Given the description of an element on the screen output the (x, y) to click on. 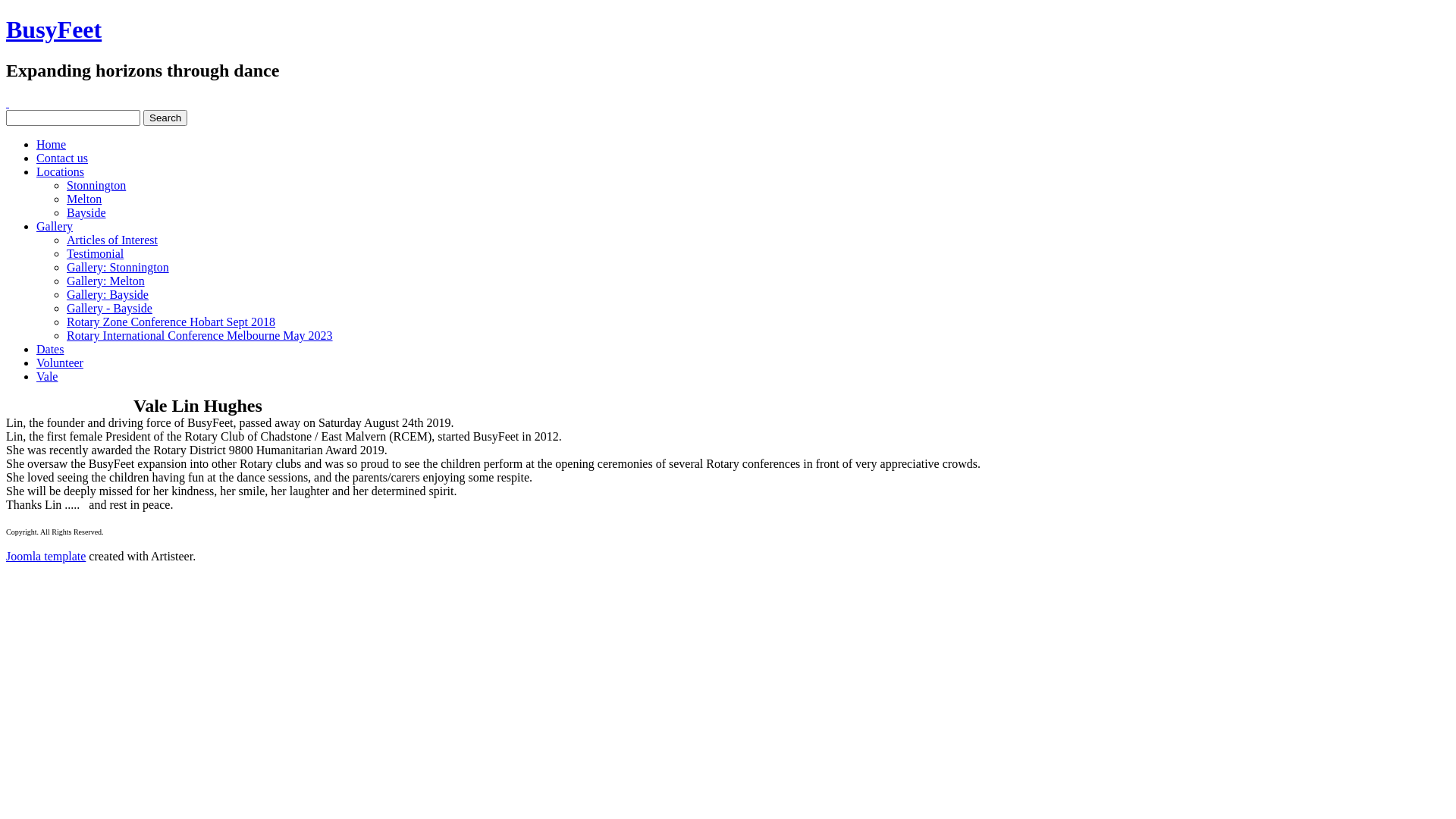
Volunteer Element type: text (59, 362)
Locations Element type: text (60, 171)
Gallery - Bayside Element type: text (109, 307)
Vale Element type: text (46, 376)
Gallery Element type: text (54, 225)
Stonnington Element type: text (95, 184)
Melton Element type: text (83, 198)
Facebook Element type: hover (7, 102)
Home Element type: text (50, 144)
Gallery: Stonnington Element type: text (117, 266)
Articles of Interest Element type: text (111, 239)
Search Element type: text (165, 117)
Joomla template Element type: text (45, 555)
Dates Element type: text (49, 348)
Bayside Element type: text (86, 212)
Rotary International Conference Melbourne May 2023 Element type: text (199, 335)
Gallery: Melton Element type: text (105, 280)
Gallery: Bayside Element type: text (107, 294)
BusyFeet Element type: text (53, 29)
Contact us Element type: text (61, 157)
Testimonial Element type: text (94, 253)
Rotary Zone Conference Hobart Sept 2018 Element type: text (170, 321)
